Given the description of an element on the screen output the (x, y) to click on. 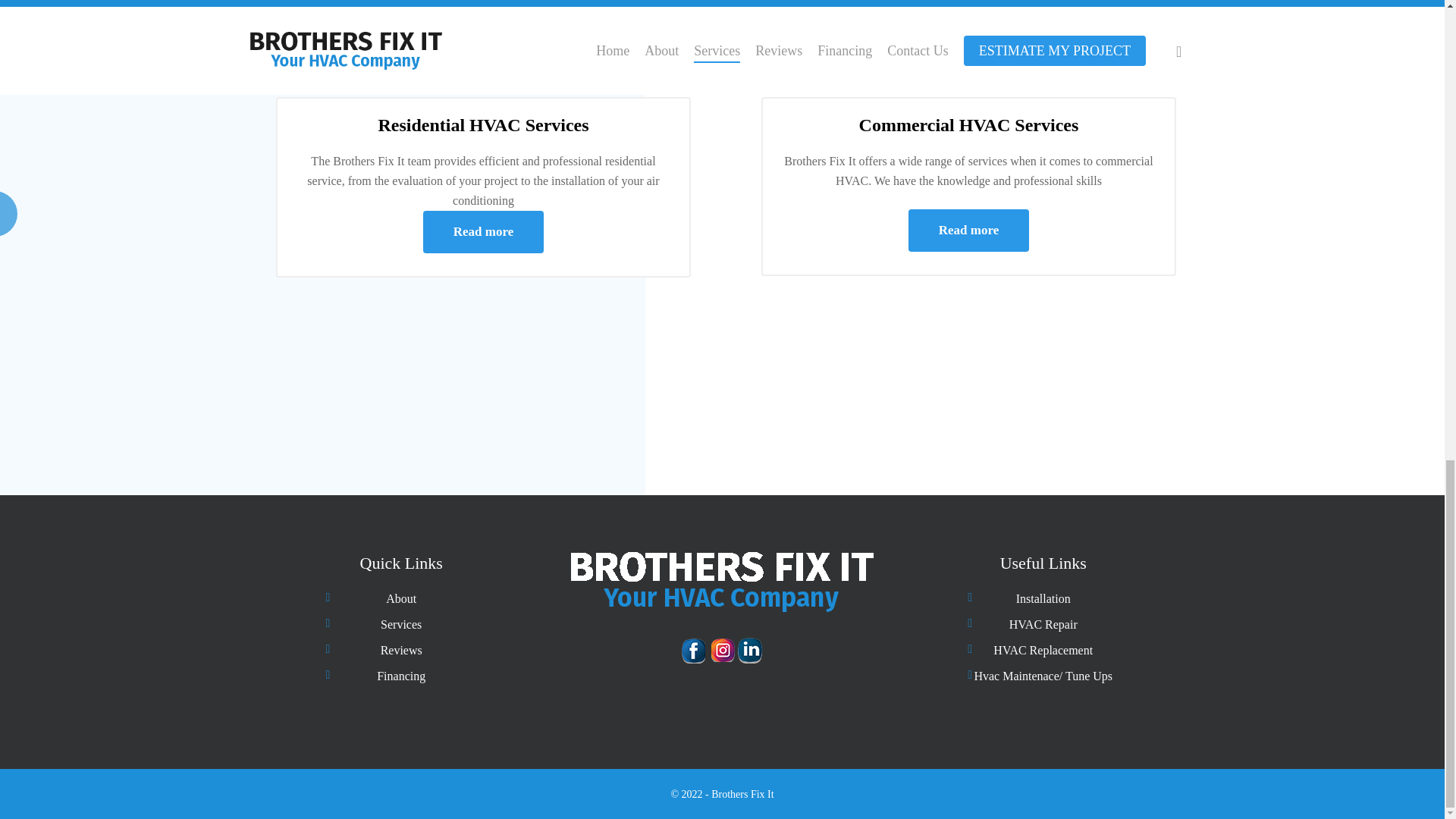
Services (401, 624)
Read more (483, 231)
Read more (968, 230)
Reviews (401, 650)
HVAC Repair (1043, 624)
HVAC Replacement (1043, 650)
Financing (401, 676)
Installation (1043, 598)
About (401, 598)
